Given the description of an element on the screen output the (x, y) to click on. 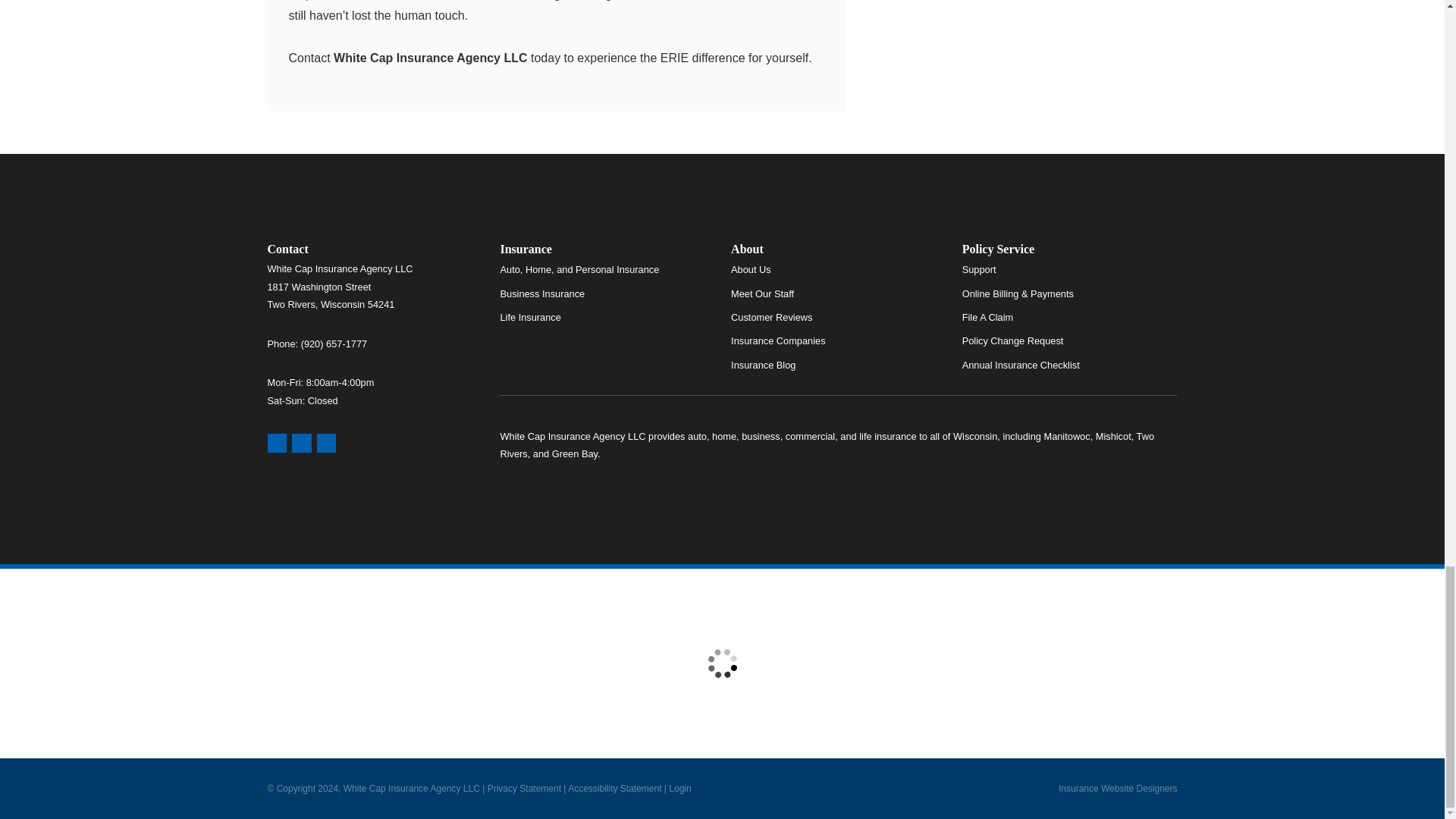
Yelp (301, 443)
Facebook (326, 443)
Google Maps (276, 443)
